Given the description of an element on the screen output the (x, y) to click on. 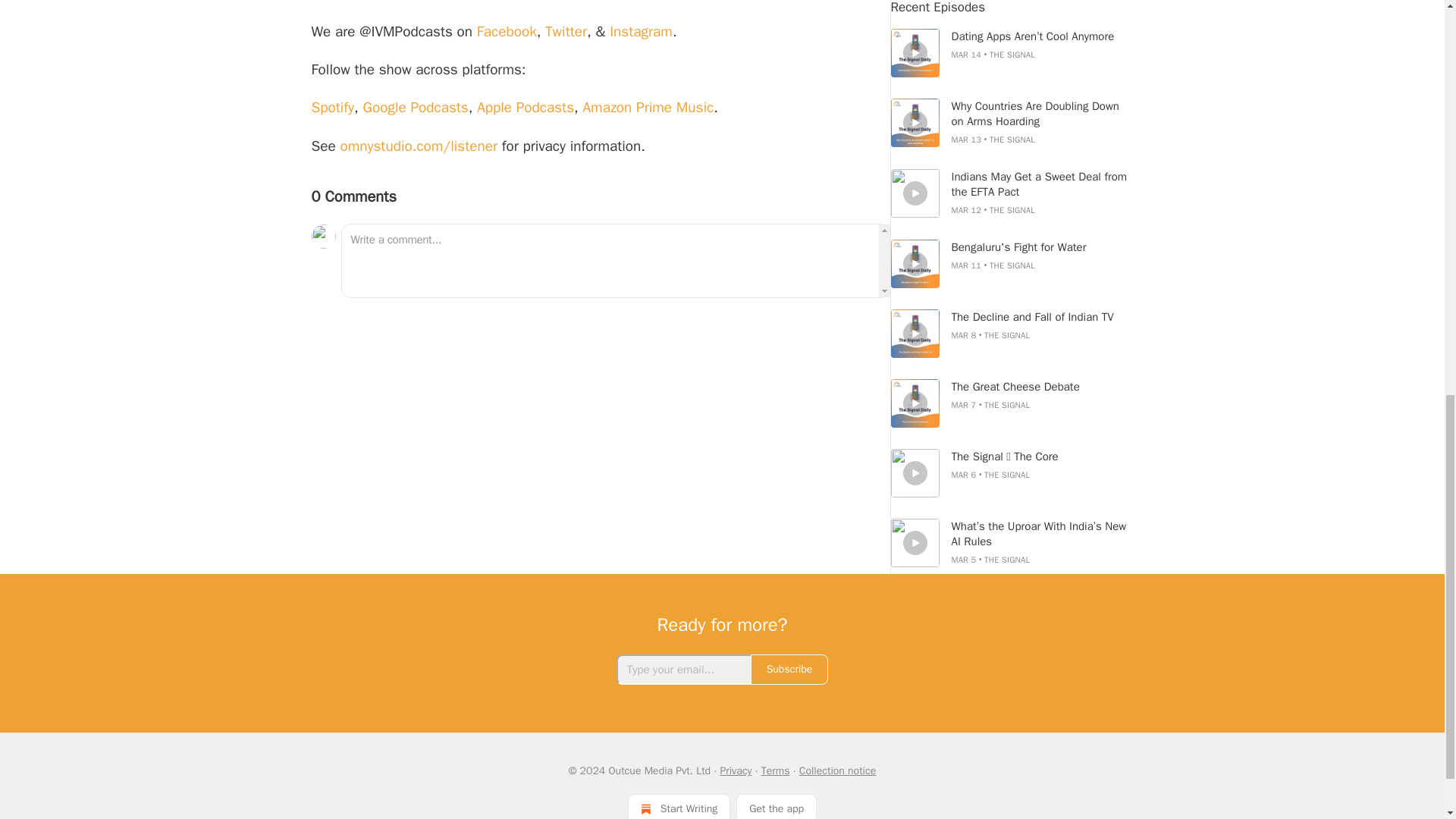
Google Podcasts (414, 107)
Twitter (565, 31)
Facebook (507, 31)
Spotify (332, 107)
Instagram (641, 31)
